Given the description of an element on the screen output the (x, y) to click on. 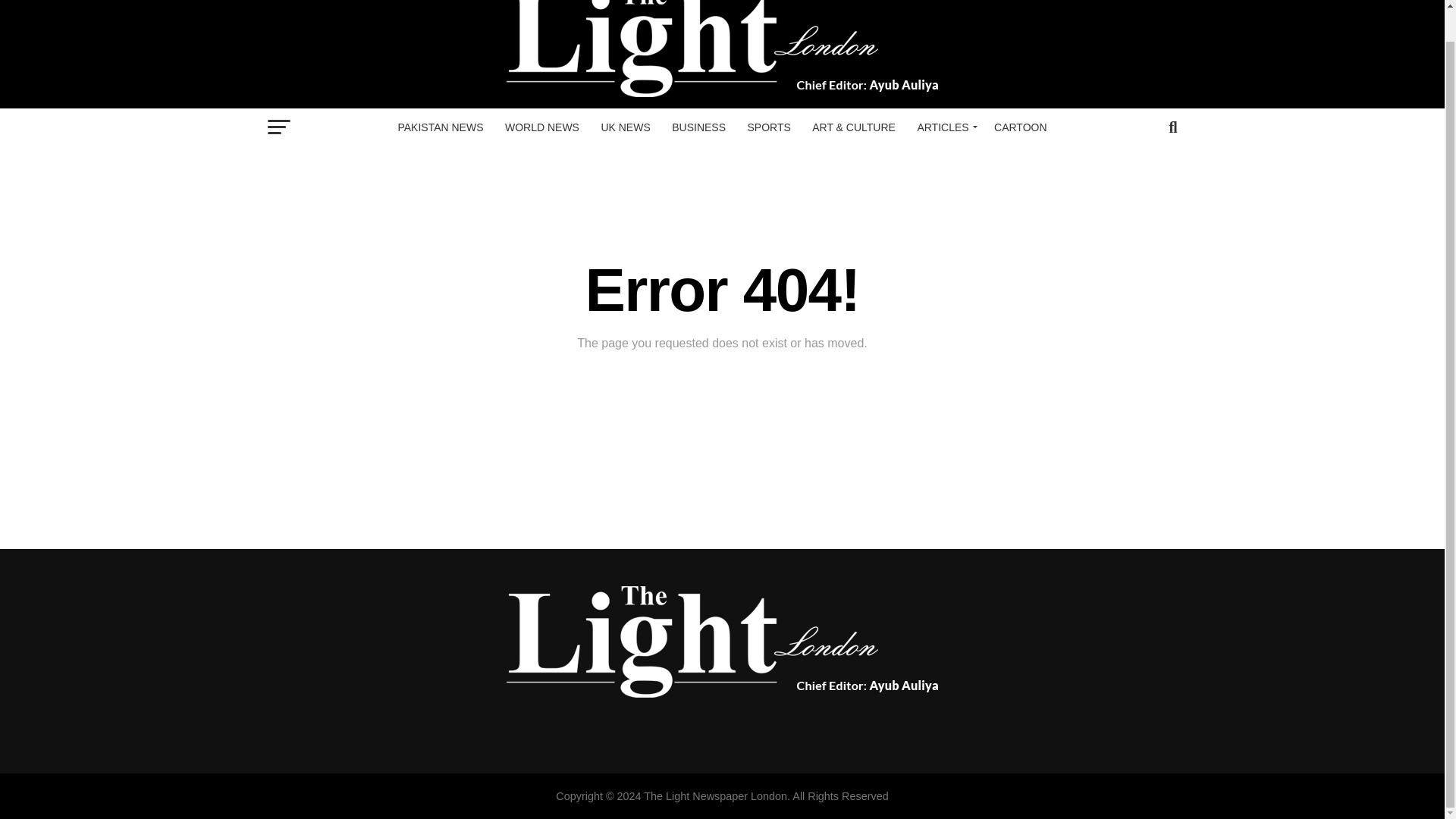
CARTOON (1021, 127)
UK NEWS (625, 127)
ARTICLES (944, 127)
PAKISTAN NEWS (440, 127)
SPORTS (768, 127)
BUSINESS (698, 127)
WORLD NEWS (542, 127)
